Given the description of an element on the screen output the (x, y) to click on. 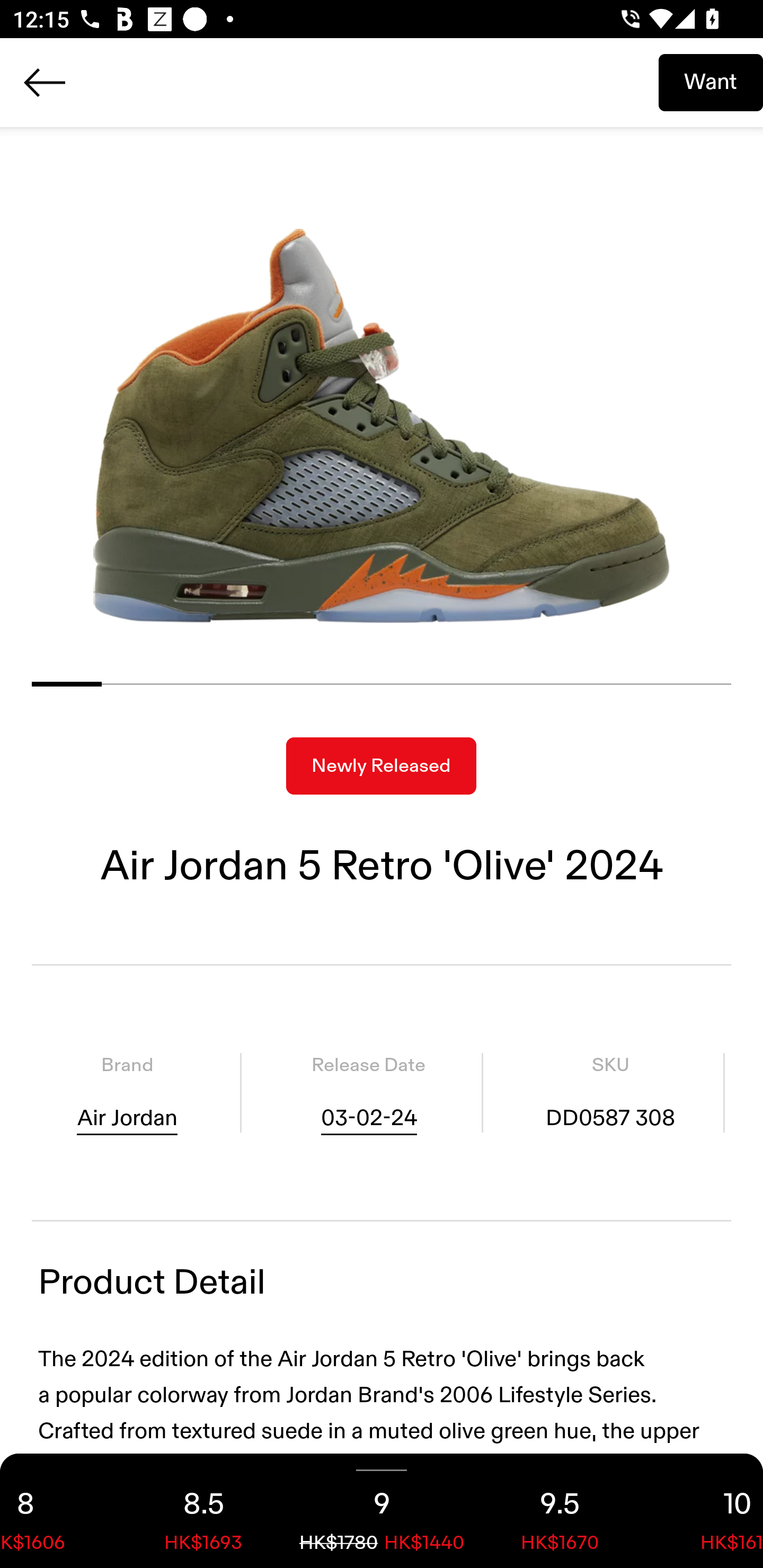
Want (710, 82)
Newly Released (381, 765)
Brand Air Jordan (126, 1092)
Release Date 03-02-24 (368, 1092)
SKU DD0587 308 (609, 1092)
8 HK$1606 (57, 1510)
8.5 HK$1693 (203, 1510)
9 HK$1780 HK$1440 (381, 1510)
9.5 HK$1670 (559, 1510)
10 HK$1614 (705, 1510)
